Given the description of an element on the screen output the (x, y) to click on. 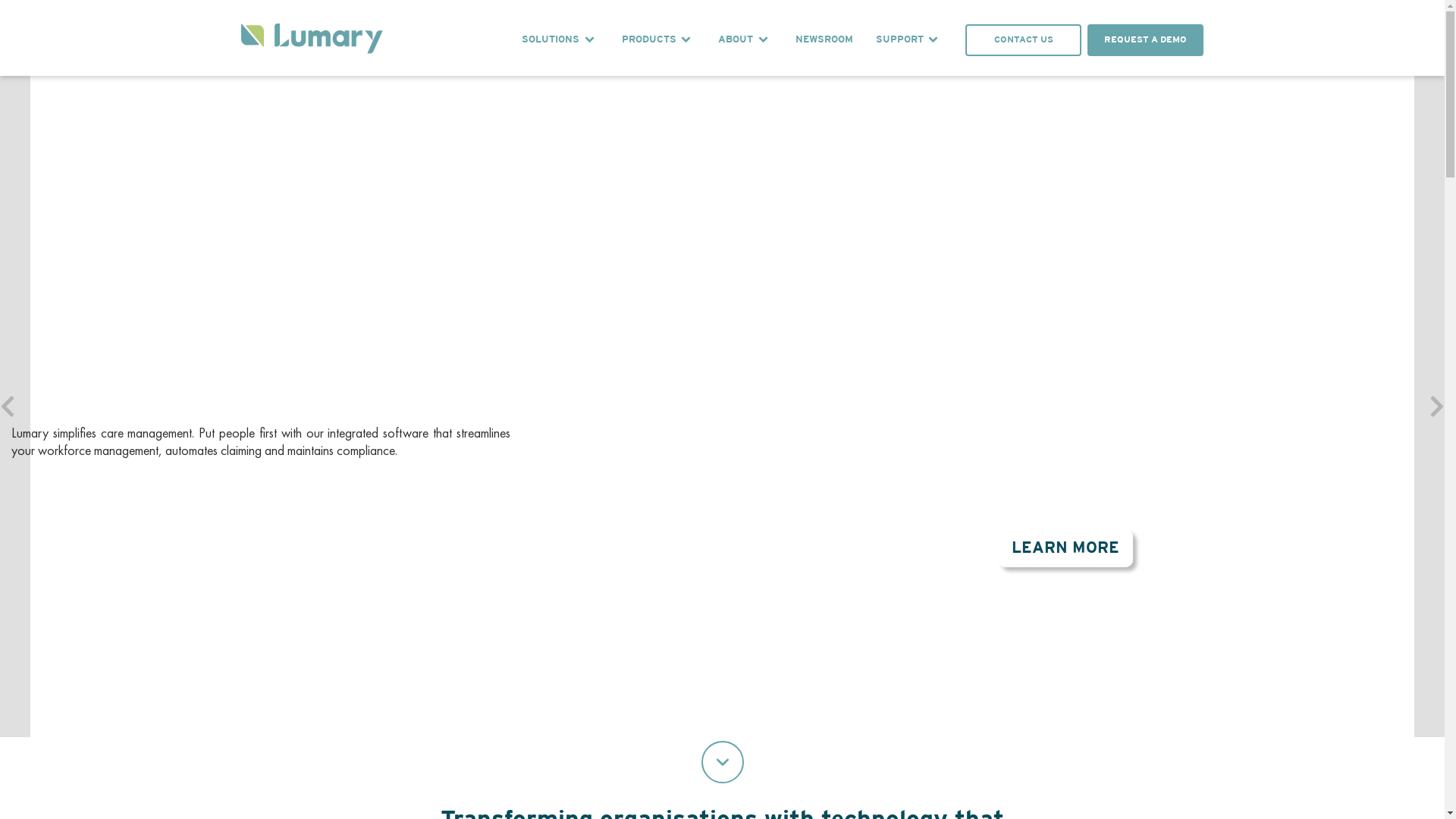
REQUEST A DEMO Element type: text (67, 523)
Group Created with Sketch. Element type: text (311, 40)
CONTACT US Element type: text (1023, 40)
NEWSROOM Element type: text (824, 40)
LEARN MORE Element type: text (1064, 548)
CONTACT US Element type: text (179, 523)
REQUEST A DEMO Element type: text (1145, 40)
